Given the description of an element on the screen output the (x, y) to click on. 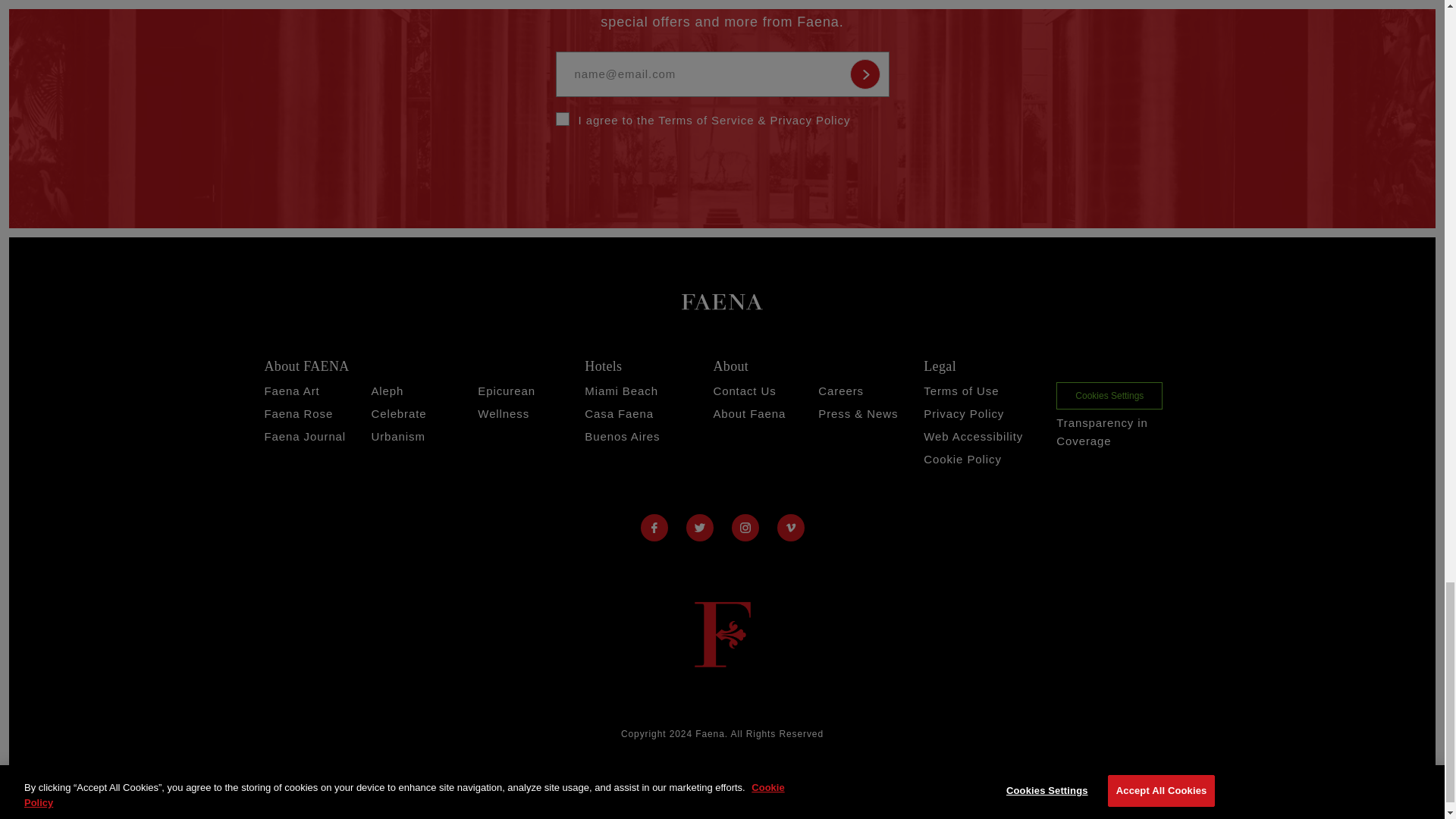
Submit (863, 73)
1 (561, 119)
